Given the description of an element on the screen output the (x, y) to click on. 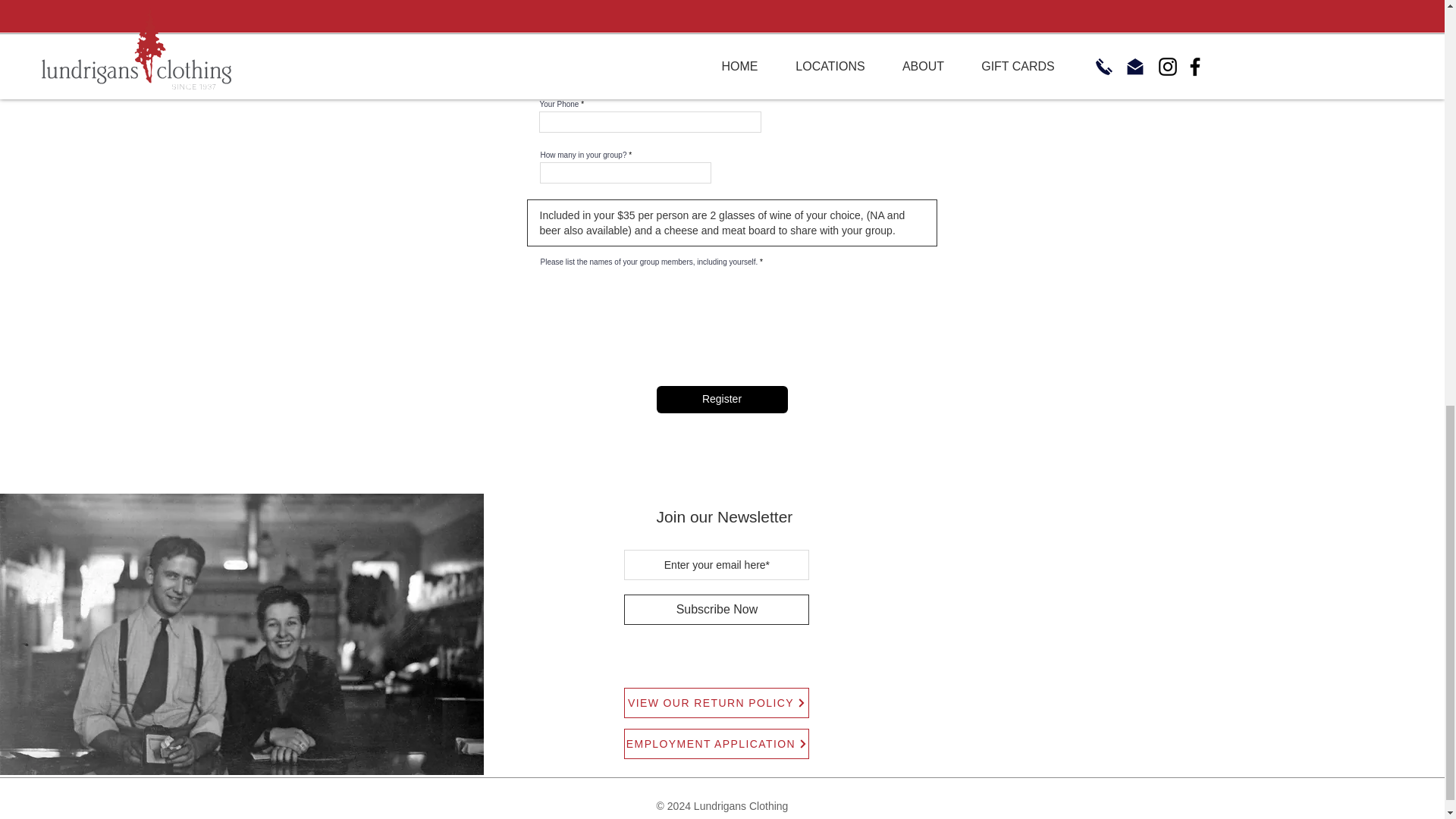
Register (721, 399)
EMPLOYMENT APPLICATION (716, 743)
Subscribe Now (716, 609)
VIEW OUR RETURN POLICY (716, 702)
